Given the description of an element on the screen output the (x, y) to click on. 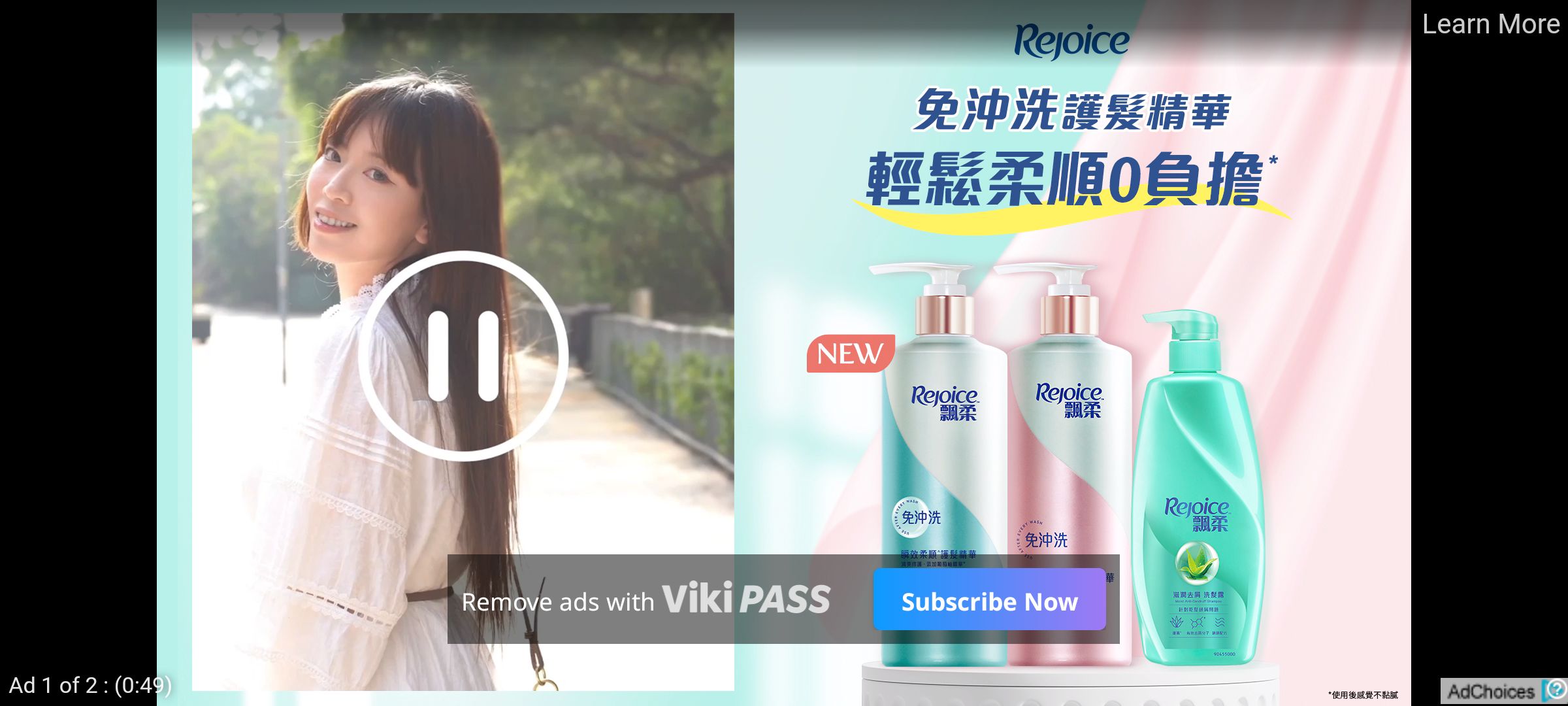
Learn More (1490, 24)
Subscribe Now (989, 599)
Ad 1 of 2 : (0:49) (90, 684)
help_outline_white_24dp_with_3px_trbl_padding (1553, 688)
get?name=admarker-full-tl (1504, 690)
